Given the description of an element on the screen output the (x, y) to click on. 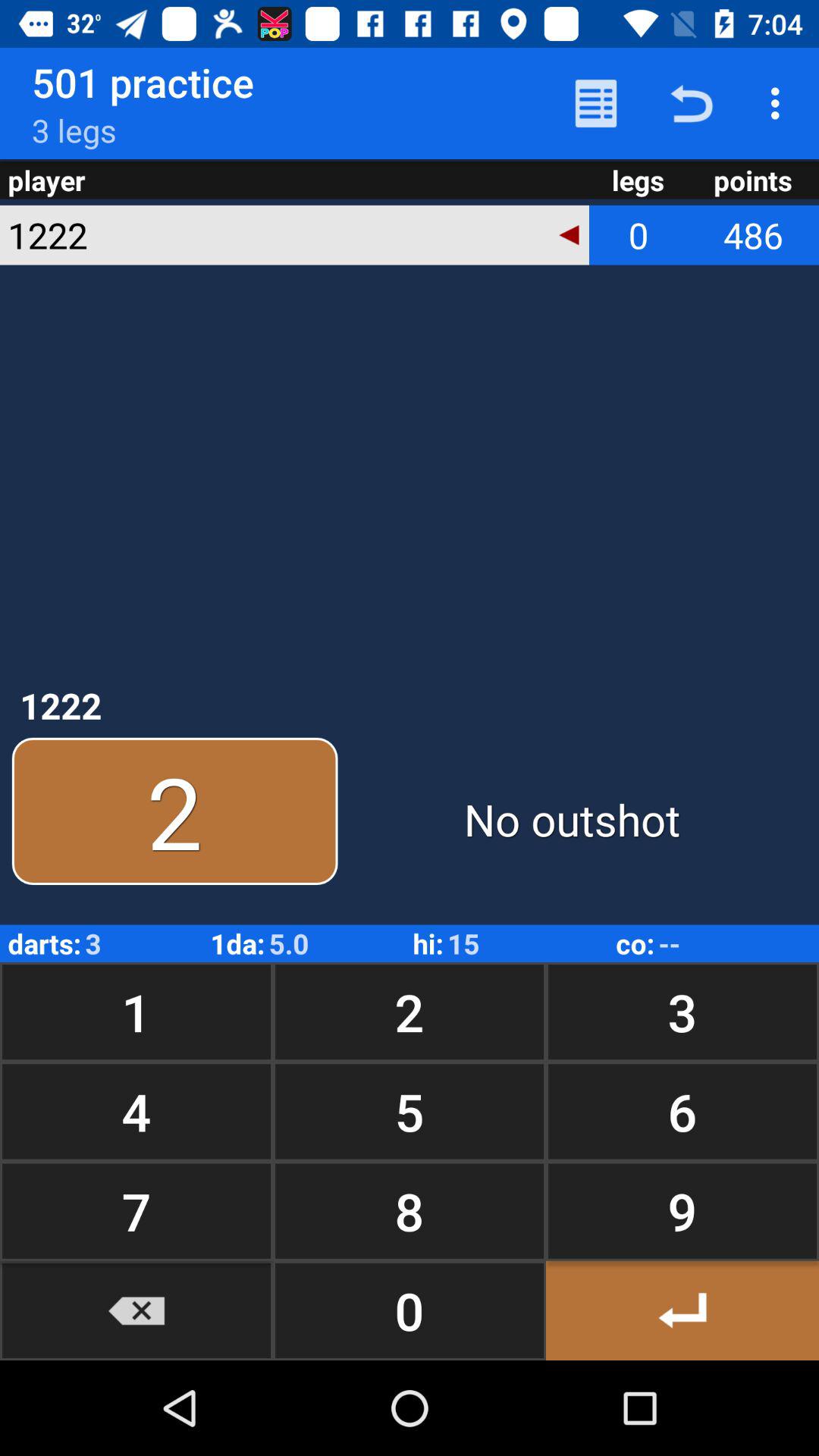
enter (682, 1310)
